Given the description of an element on the screen output the (x, y) to click on. 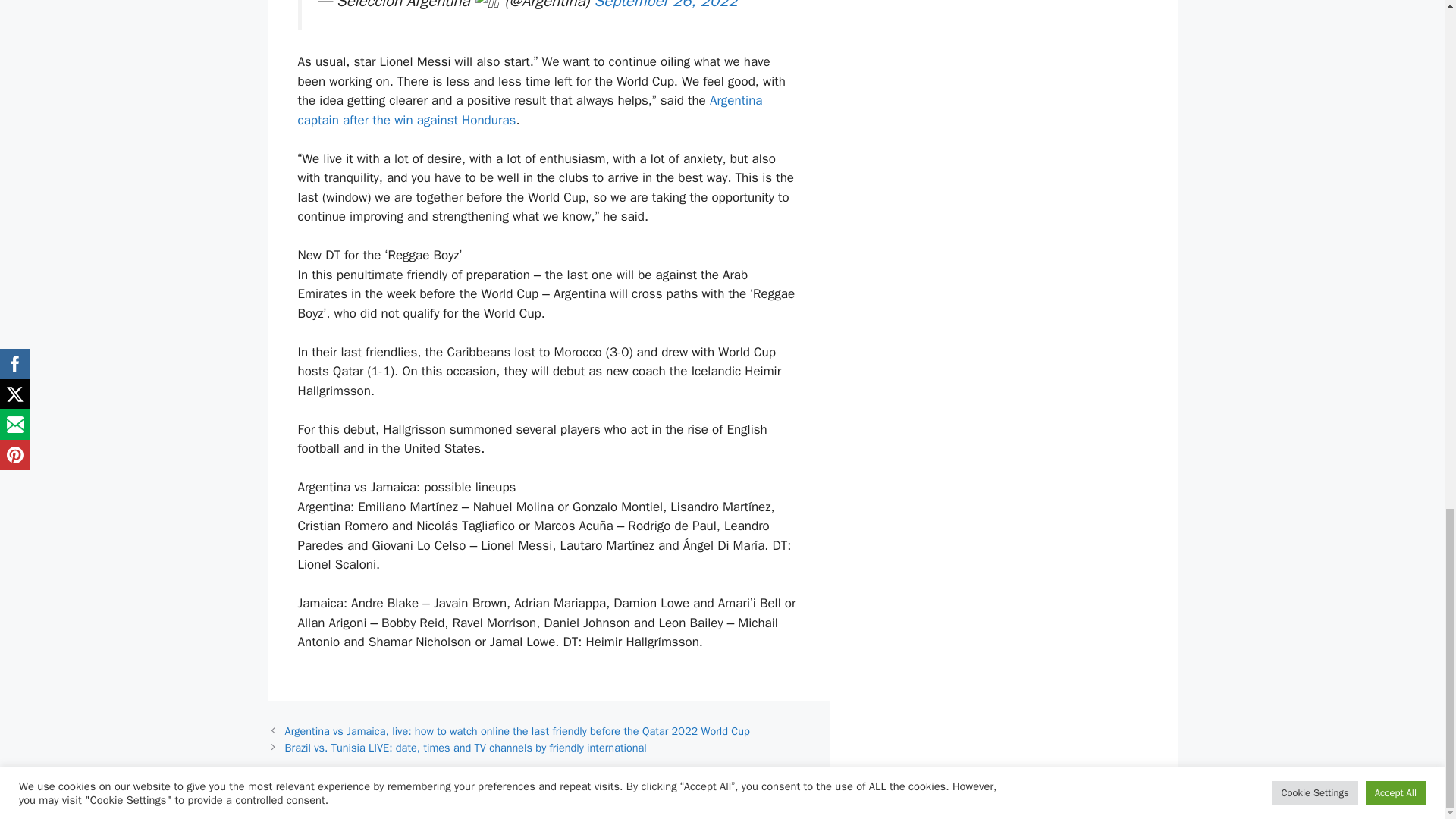
NFL Games Live TV (549, 794)
About Us (852, 794)
Argentina captain after the win against Honduras (529, 109)
September 26, 2022 (666, 5)
Scroll back to top (1406, 176)
Privacy Policy (1114, 794)
Editorial Policy (733, 794)
Disclaimer (915, 794)
Terms and Conditions (1011, 794)
